Given the description of an element on the screen output the (x, y) to click on. 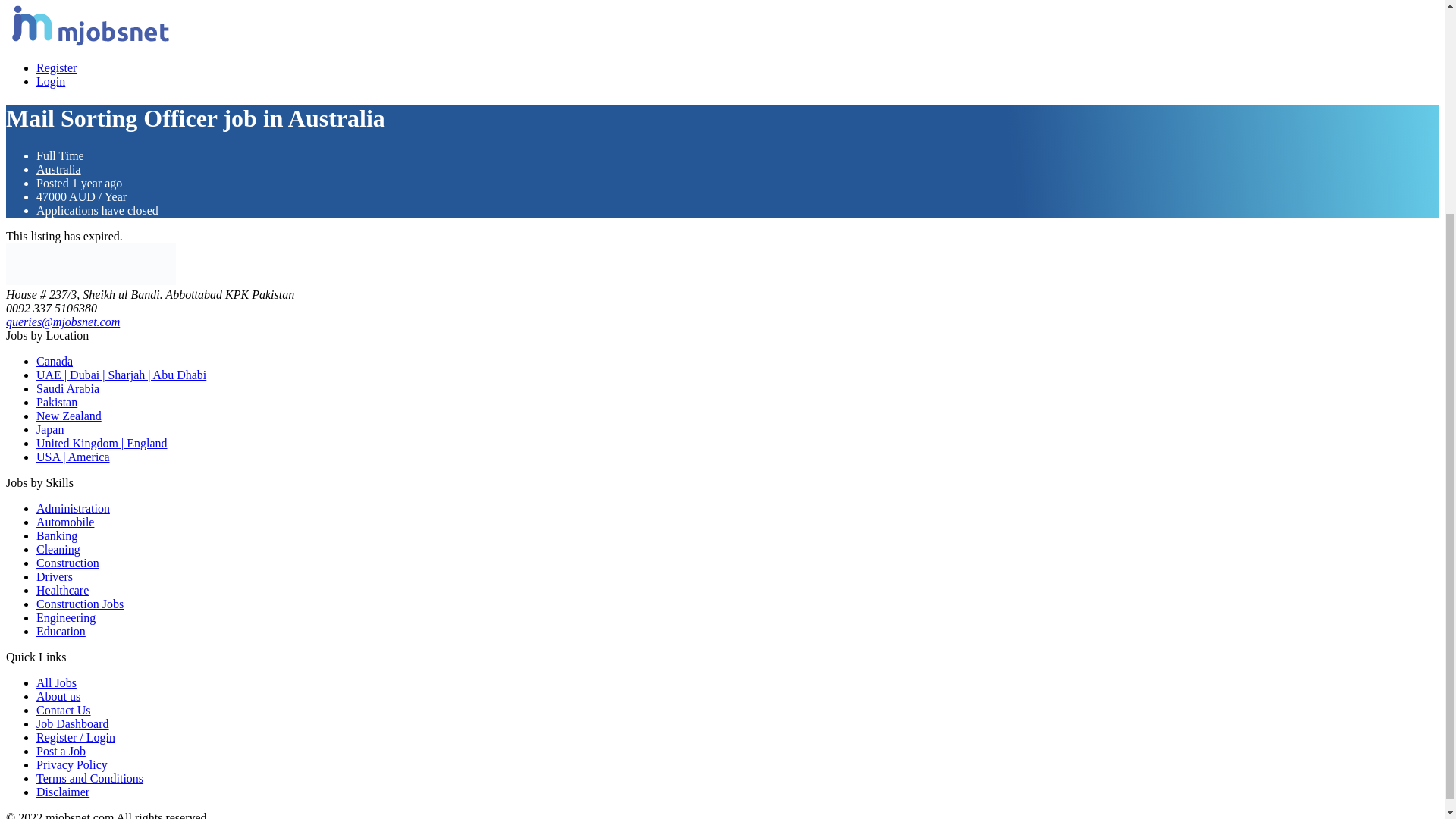
Australia (58, 169)
Saudi Arabia (67, 388)
Japan (50, 429)
Construction (67, 562)
Administration (73, 508)
Automobile (65, 521)
All Jobs (56, 682)
Canada (54, 360)
Construction Jobs (79, 603)
Register (56, 67)
